Given the description of an element on the screen output the (x, y) to click on. 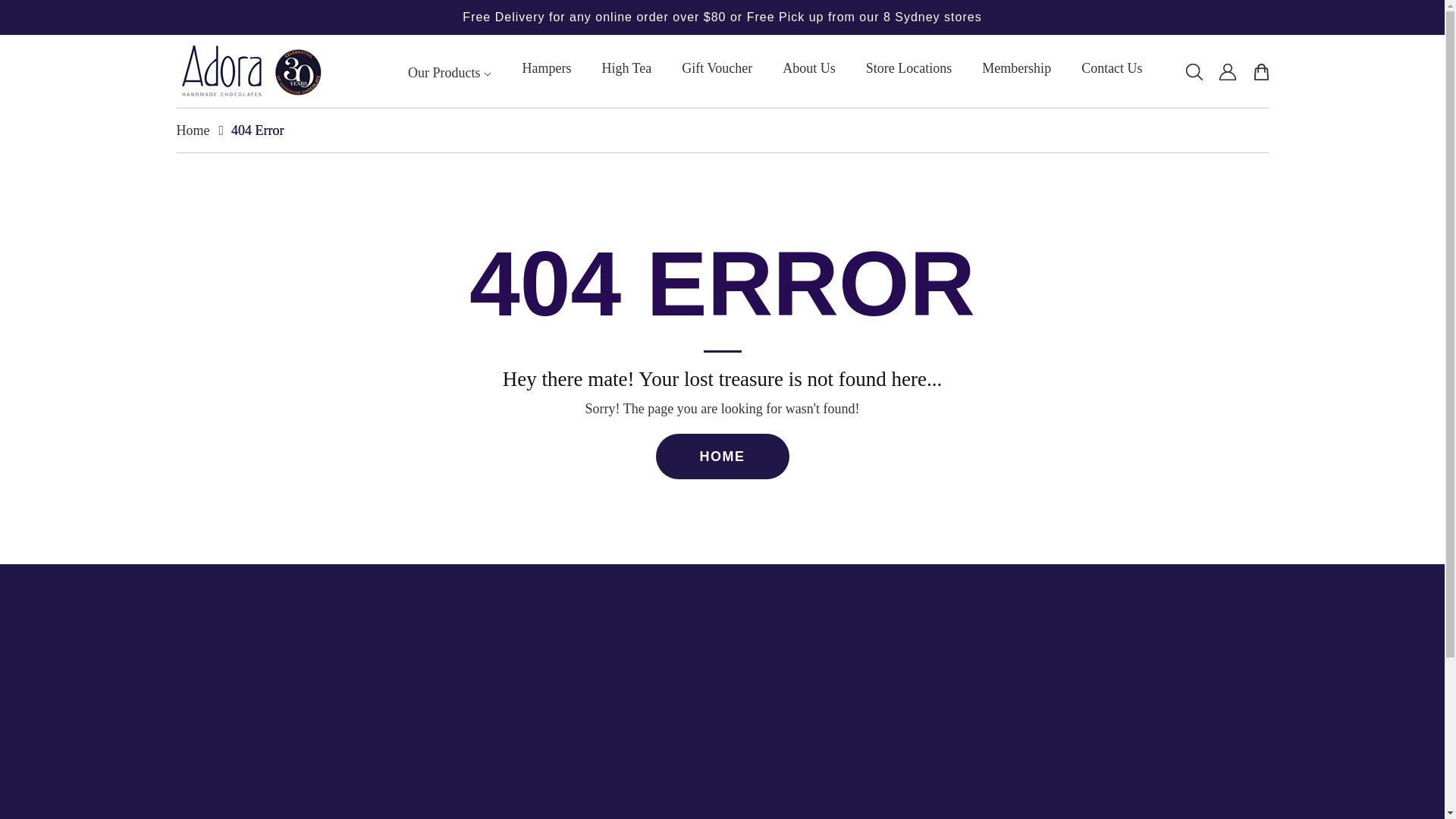
About Us (845, 744)
Store Locations (809, 68)
Skip to content (909, 68)
Gift Voucher (45, 17)
Hampers (716, 68)
High Tea (545, 68)
